Given the description of an element on the screen output the (x, y) to click on. 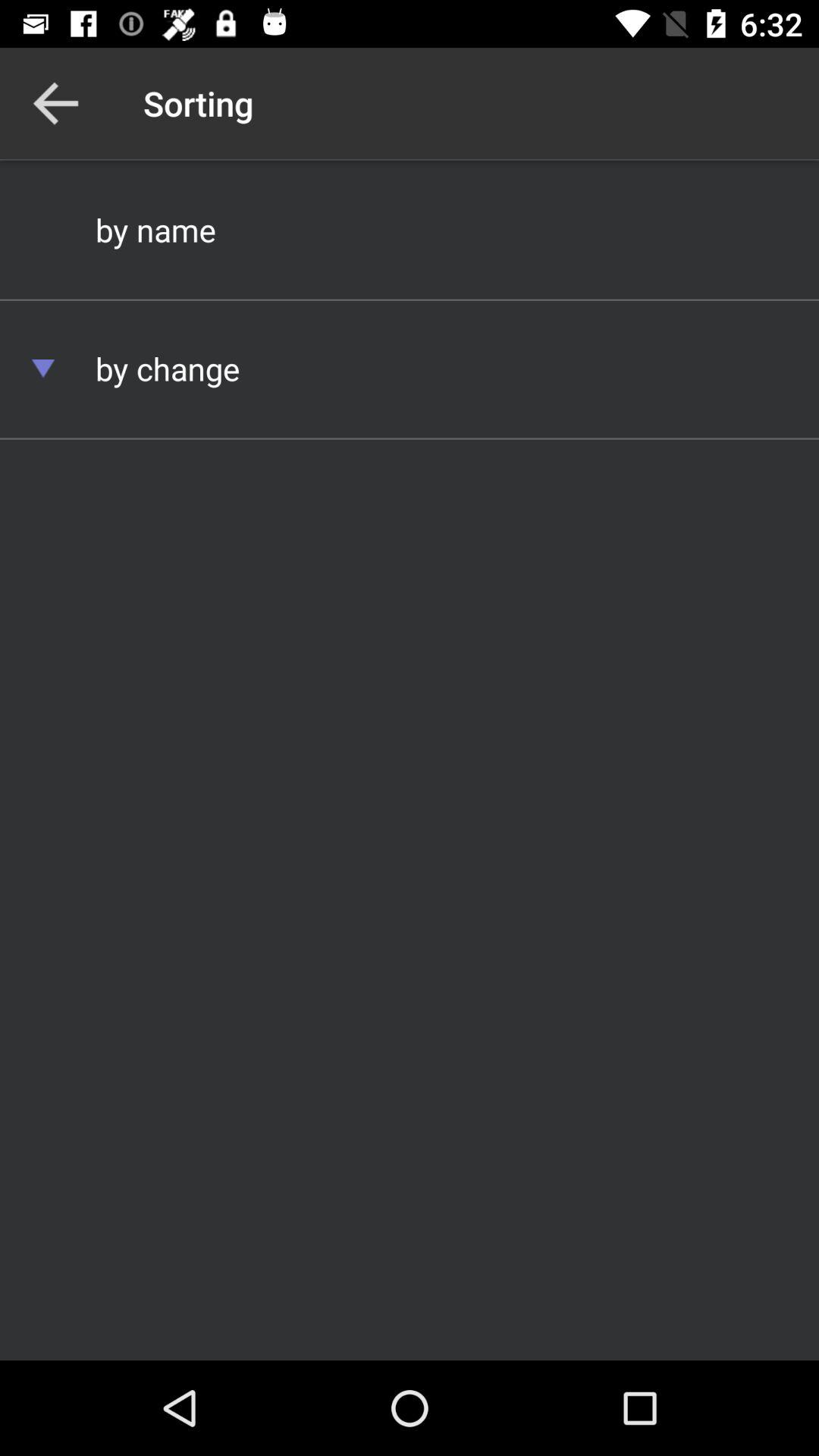
click the item below by name (409, 368)
